Given the description of an element on the screen output the (x, y) to click on. 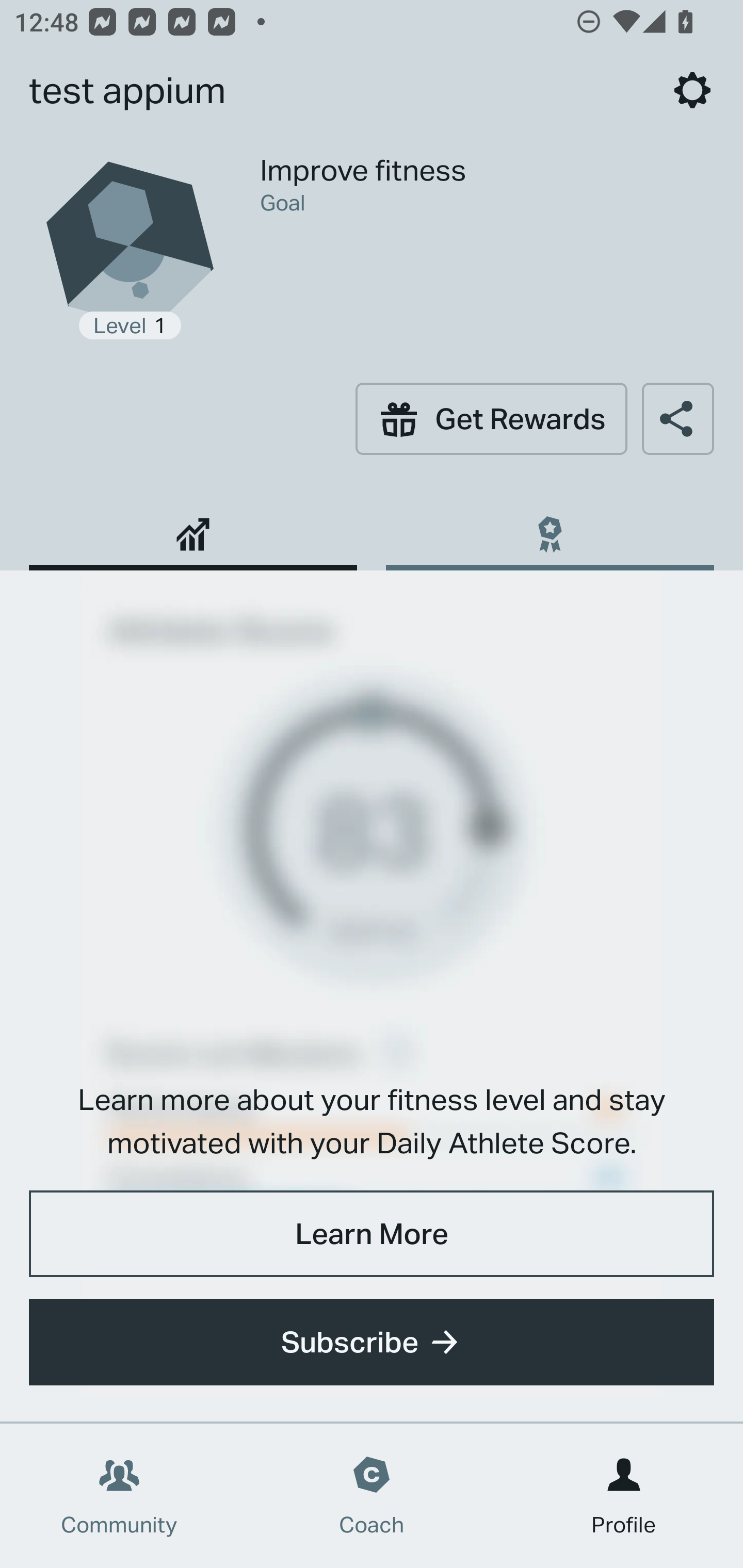
Settings (692, 90)
Get Rewards (491, 418)
Daily Athlete Score (192, 527)
Hall of Fame (549, 527)
Learn More (371, 1233)
Subscribe (371, 1342)
Community (119, 1495)
Coach (371, 1495)
